Given the description of an element on the screen output the (x, y) to click on. 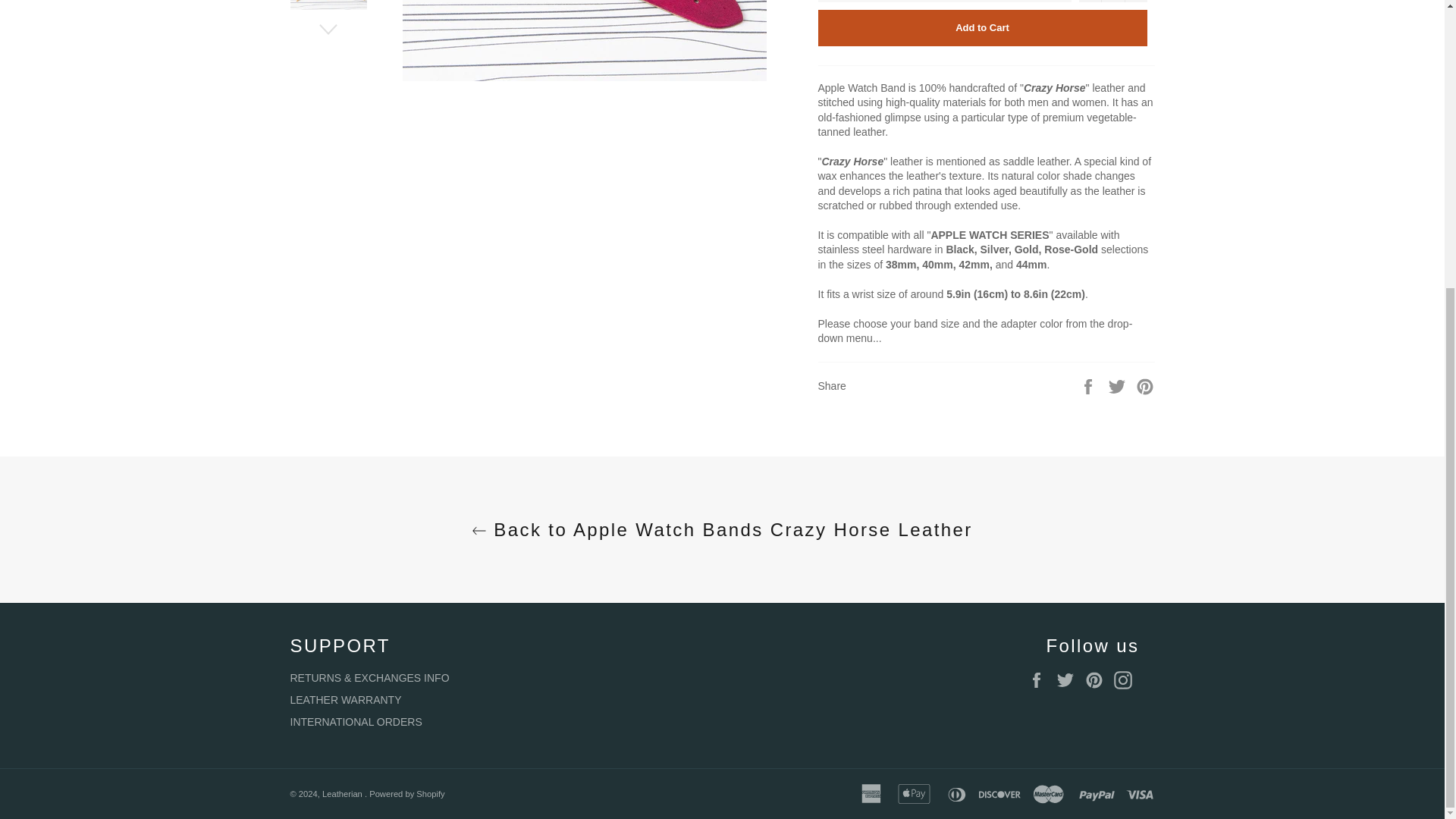
Leatherian   on Pinterest (1097, 679)
Leatherian   on Facebook (1039, 679)
Leatherian   on Instagram (1125, 679)
Share on Facebook (1089, 385)
Tweet on Twitter (1118, 385)
Leatherian   on Twitter (1069, 679)
Pin on Pinterest (1144, 385)
1 (1112, 1)
